Given the description of an element on the screen output the (x, y) to click on. 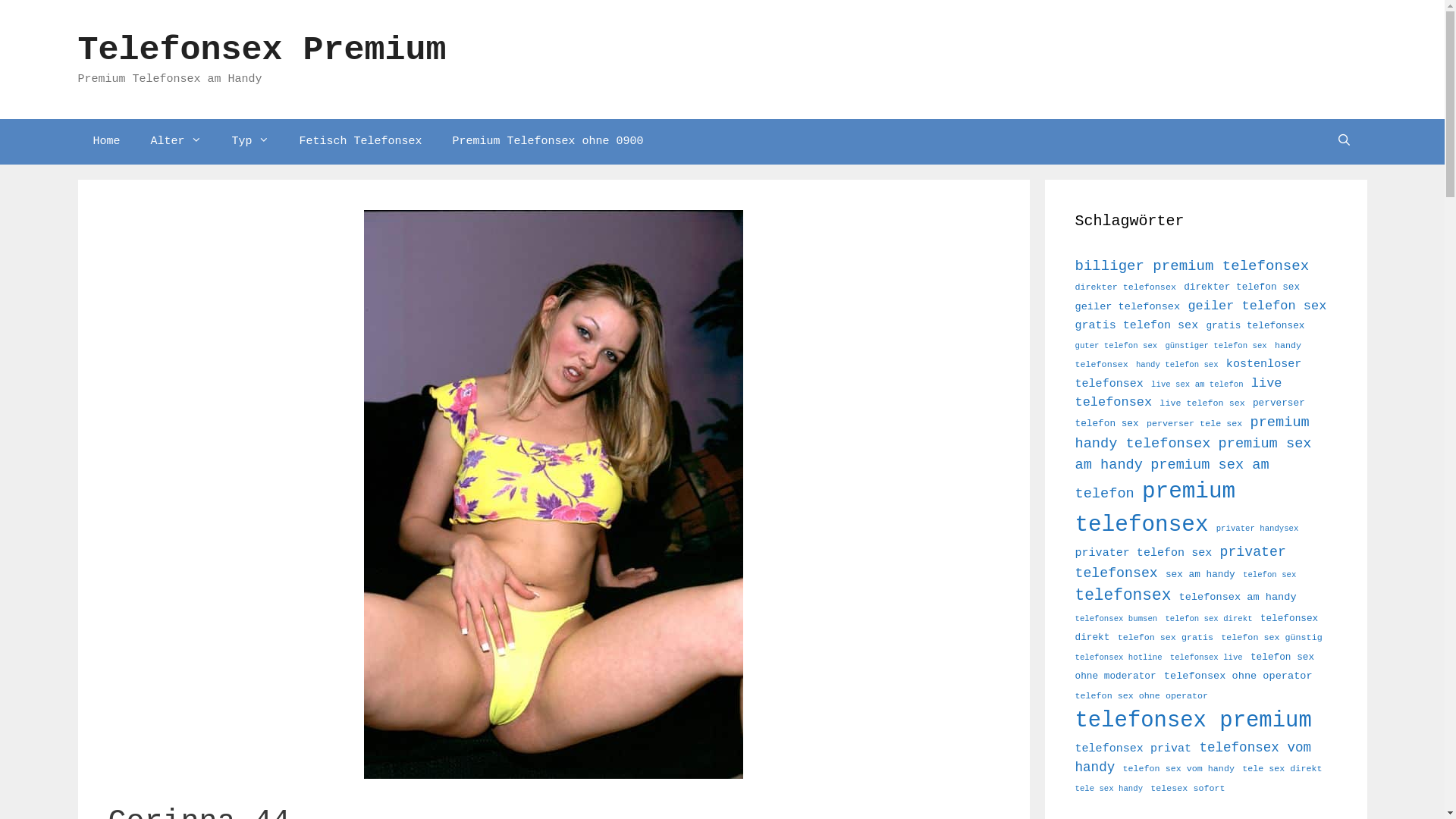
gratis telefonsex Element type: text (1254, 325)
handy telefonsex Element type: text (1188, 355)
perverser tele sex Element type: text (1194, 423)
telefon sex vom handy Element type: text (1177, 768)
telefonsex ohne operator Element type: text (1238, 675)
premium sex am handy Element type: text (1193, 454)
telesex sofort Element type: text (1187, 788)
telefonsex premium Element type: text (1193, 720)
kostenloser telefonsex Element type: text (1188, 373)
live telefon sex Element type: text (1201, 403)
telefonsex vom handy Element type: text (1193, 757)
telefon sex direkt Element type: text (1208, 618)
guter telefon sex Element type: text (1116, 345)
direkter telefon sex Element type: text (1241, 286)
telefonsex live Element type: text (1206, 657)
telefonsex direkt Element type: text (1196, 627)
geiler telefon sex Element type: text (1256, 305)
billiger premium telefonsex Element type: text (1192, 265)
Fetisch Telefonsex Element type: text (360, 140)
telefon sex gratis Element type: text (1165, 637)
privater telefonsex Element type: text (1180, 562)
direkter telefonsex Element type: text (1125, 287)
live telefonsex Element type: text (1178, 393)
telefonsex hotline Element type: text (1118, 657)
premium telefonsex Element type: text (1155, 508)
Telefonsex Premium Element type: text (261, 50)
telefonsex bumsen Element type: text (1116, 618)
telefon sex ohne moderator Element type: text (1194, 666)
live sex am telefon Element type: text (1197, 384)
Home Element type: text (105, 140)
Typ Element type: text (250, 140)
perverser telefon sex Element type: text (1190, 413)
telefon sex ohne operator Element type: text (1141, 695)
tele sex handy Element type: text (1109, 788)
sex am handy Element type: text (1200, 574)
telefonsex privat Element type: text (1133, 748)
geiler telefonsex Element type: text (1127, 306)
premium handy telefonsex Element type: text (1192, 432)
privater telefon sex Element type: text (1143, 552)
tele sex direkt Element type: text (1281, 768)
premium sex am telefon Element type: text (1172, 479)
gratis telefon sex Element type: text (1136, 325)
telefonsex Element type: text (1123, 595)
telefonsex am handy Element type: text (1237, 596)
Premium Telefonsex ohne 0900 Element type: text (547, 140)
privater handysex Element type: text (1257, 528)
telefon sex Element type: text (1268, 574)
handy telefon sex Element type: text (1176, 364)
Alter Element type: text (175, 140)
